Given the description of an element on the screen output the (x, y) to click on. 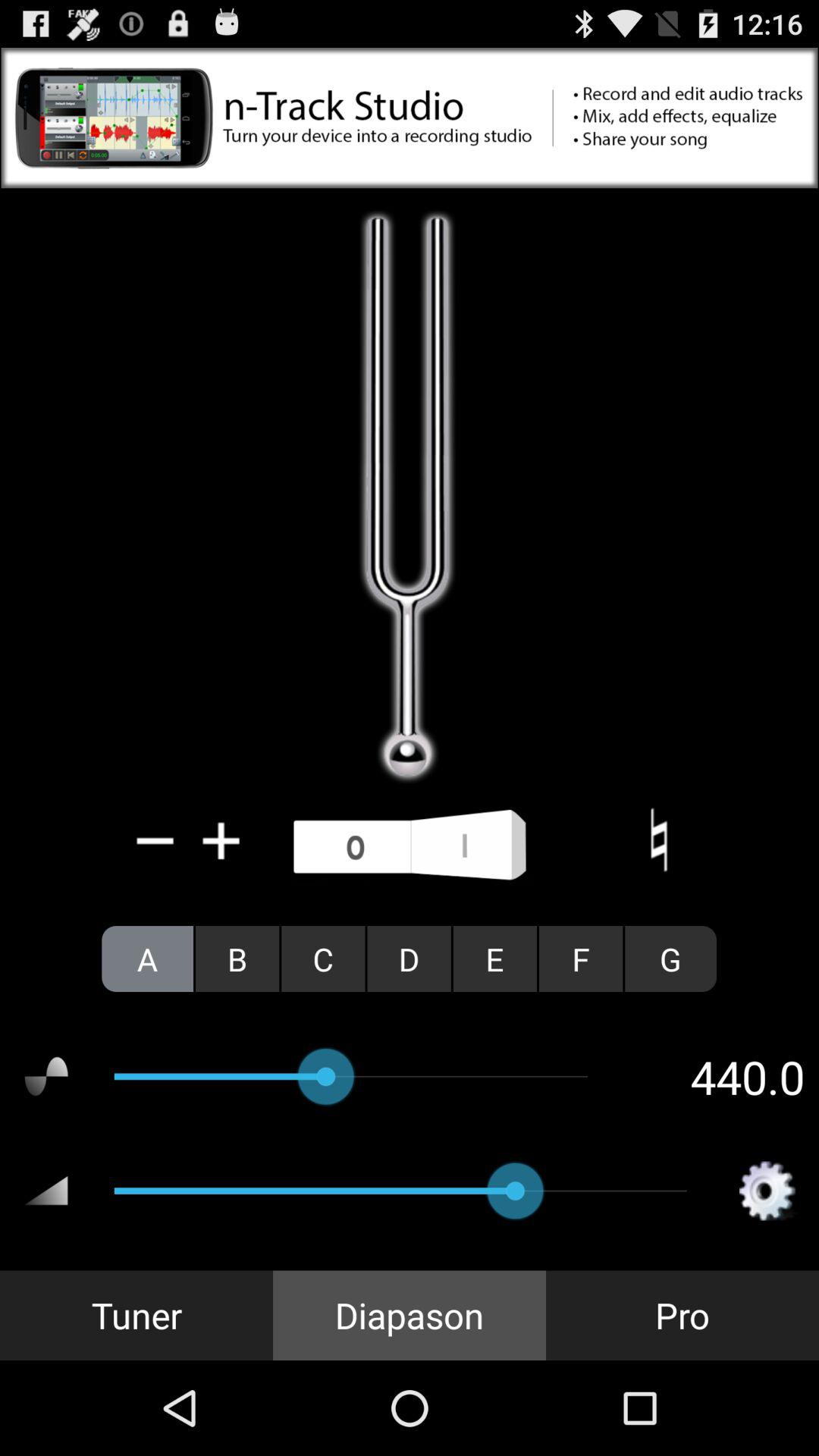
turn on sound (409, 846)
